Given the description of an element on the screen output the (x, y) to click on. 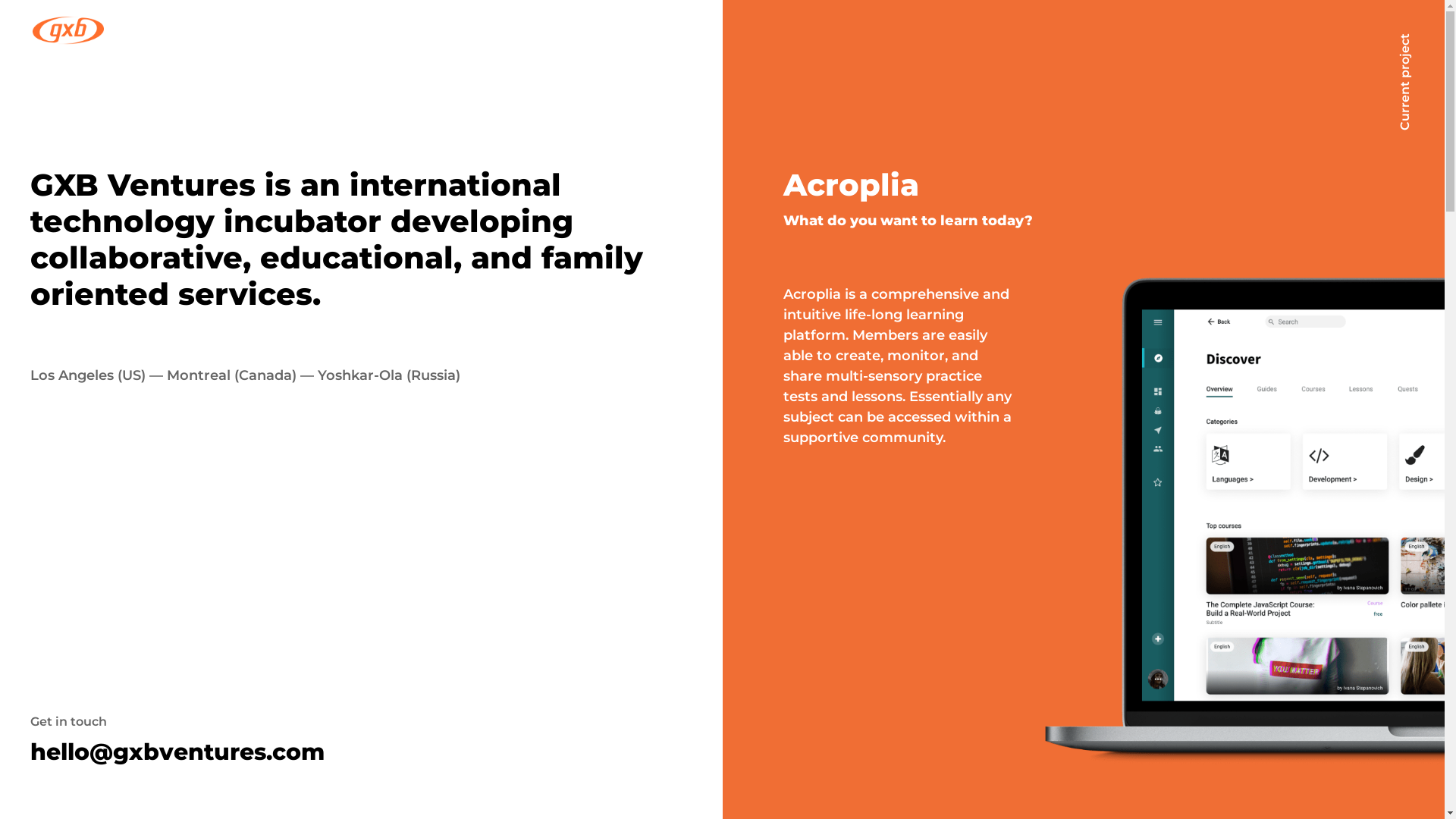
hello@gxbventures.com Element type: text (177, 751)
